Given the description of an element on the screen output the (x, y) to click on. 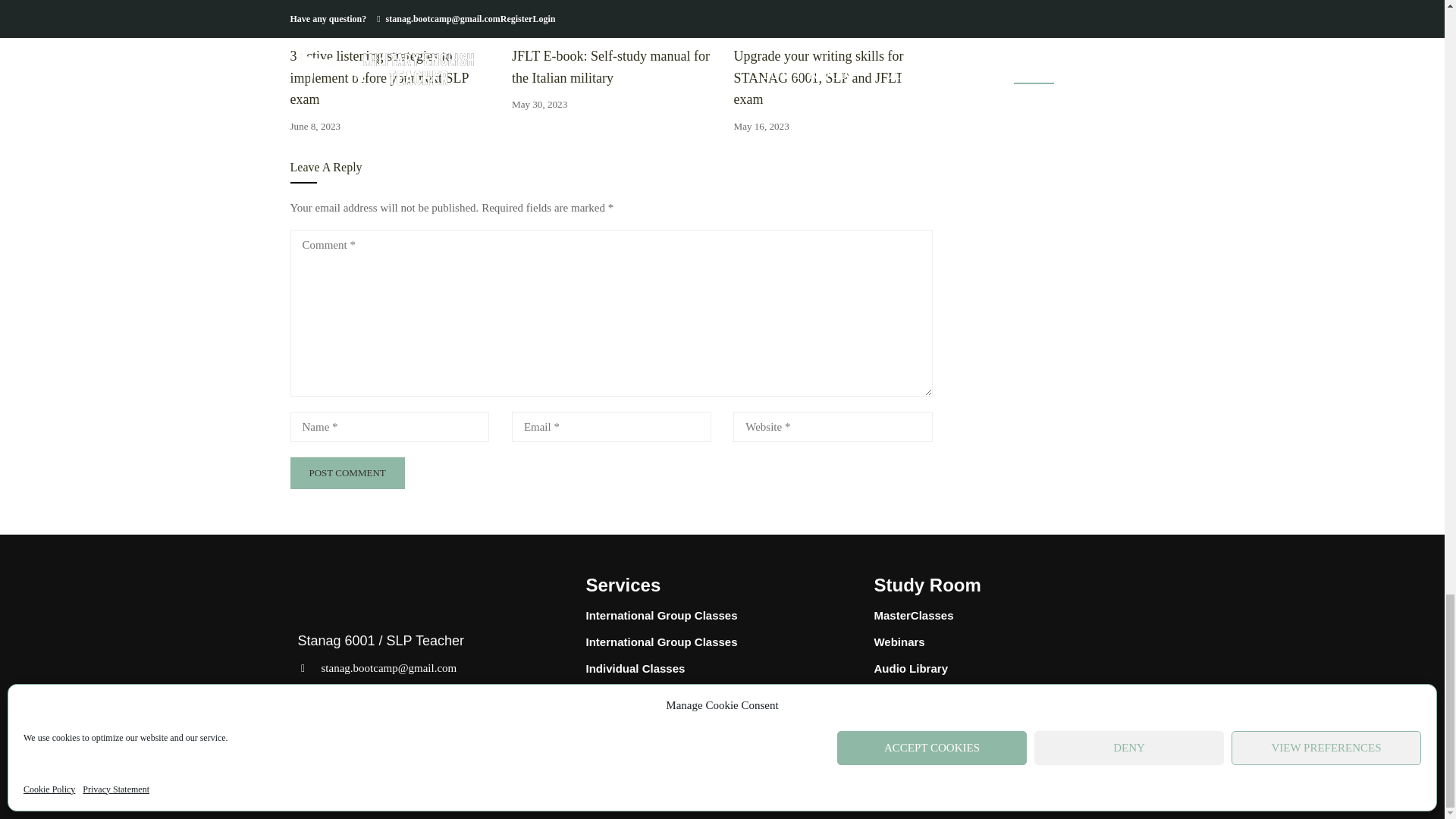
Post Comment (346, 473)
